Given the description of an element on the screen output the (x, y) to click on. 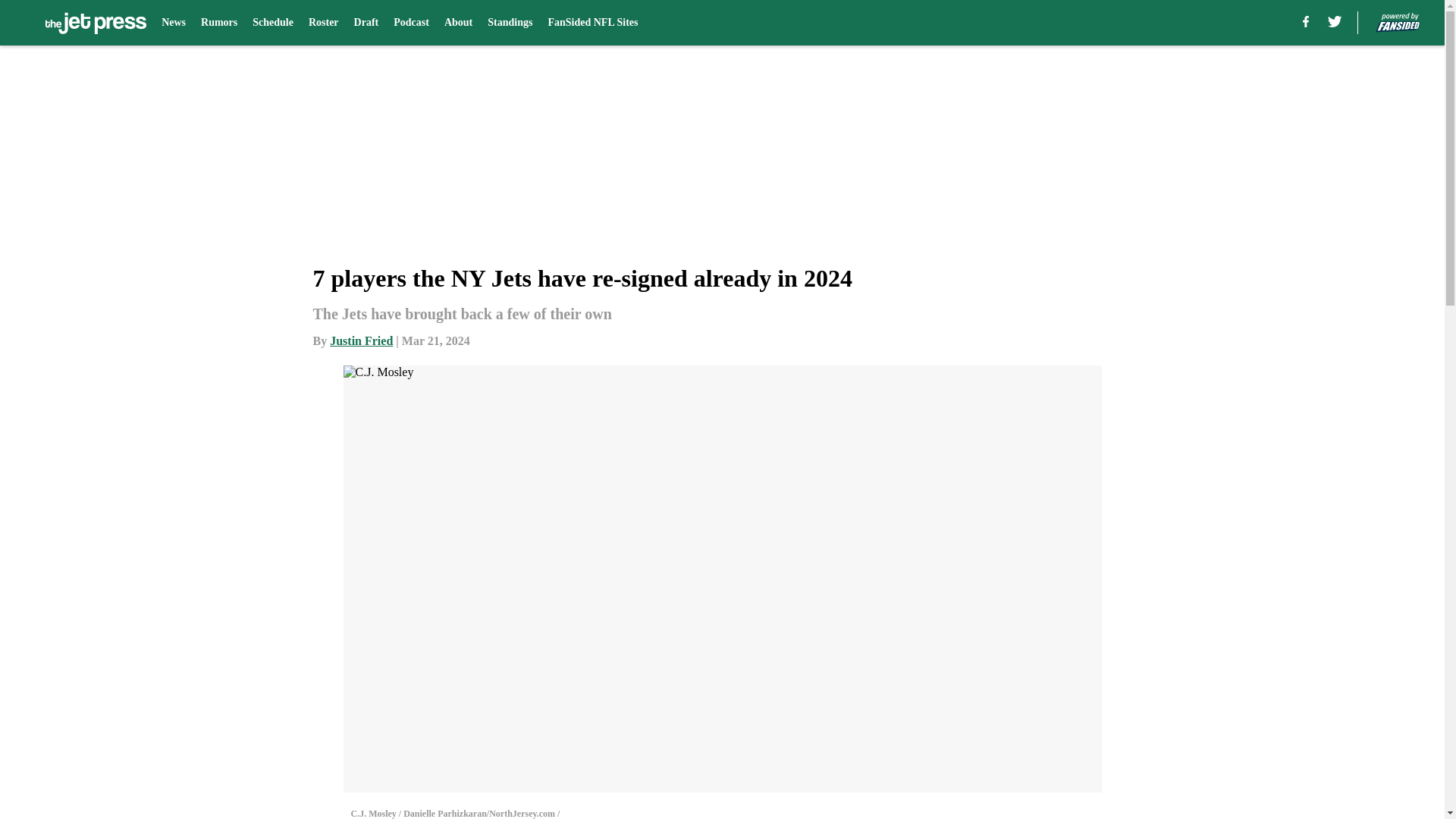
Standings (509, 22)
About (457, 22)
Schedule (272, 22)
Rumors (218, 22)
Roster (323, 22)
Draft (365, 22)
Podcast (411, 22)
FanSided NFL Sites (592, 22)
News (173, 22)
